Given the description of an element on the screen output the (x, y) to click on. 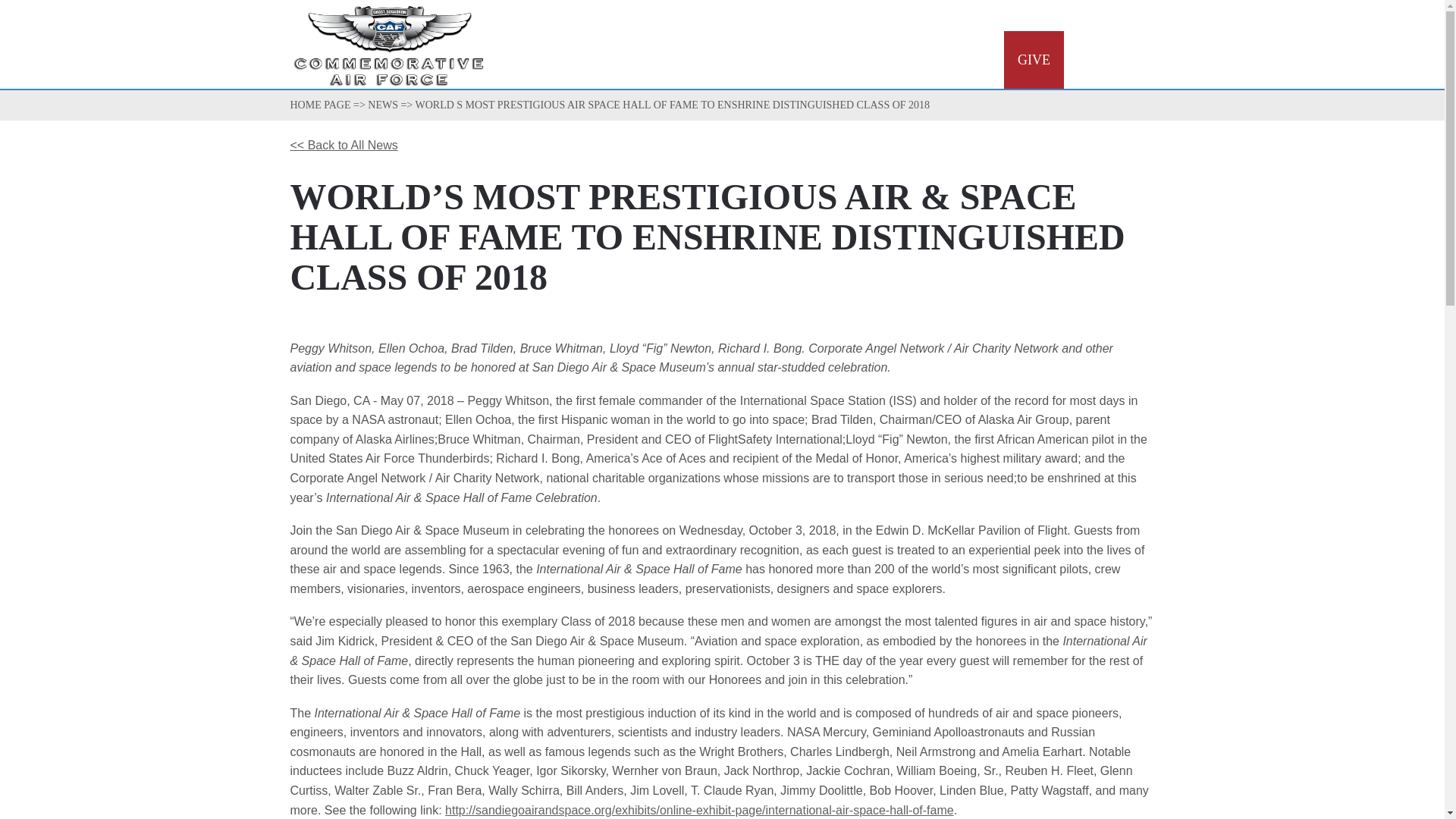
SHOP (973, 59)
HOME (696, 59)
COLONEL LOGIN (1114, 16)
GIVE (1034, 59)
JOIN (913, 59)
EVENTS (845, 59)
ABOUT (767, 59)
